Given the description of an element on the screen output the (x, y) to click on. 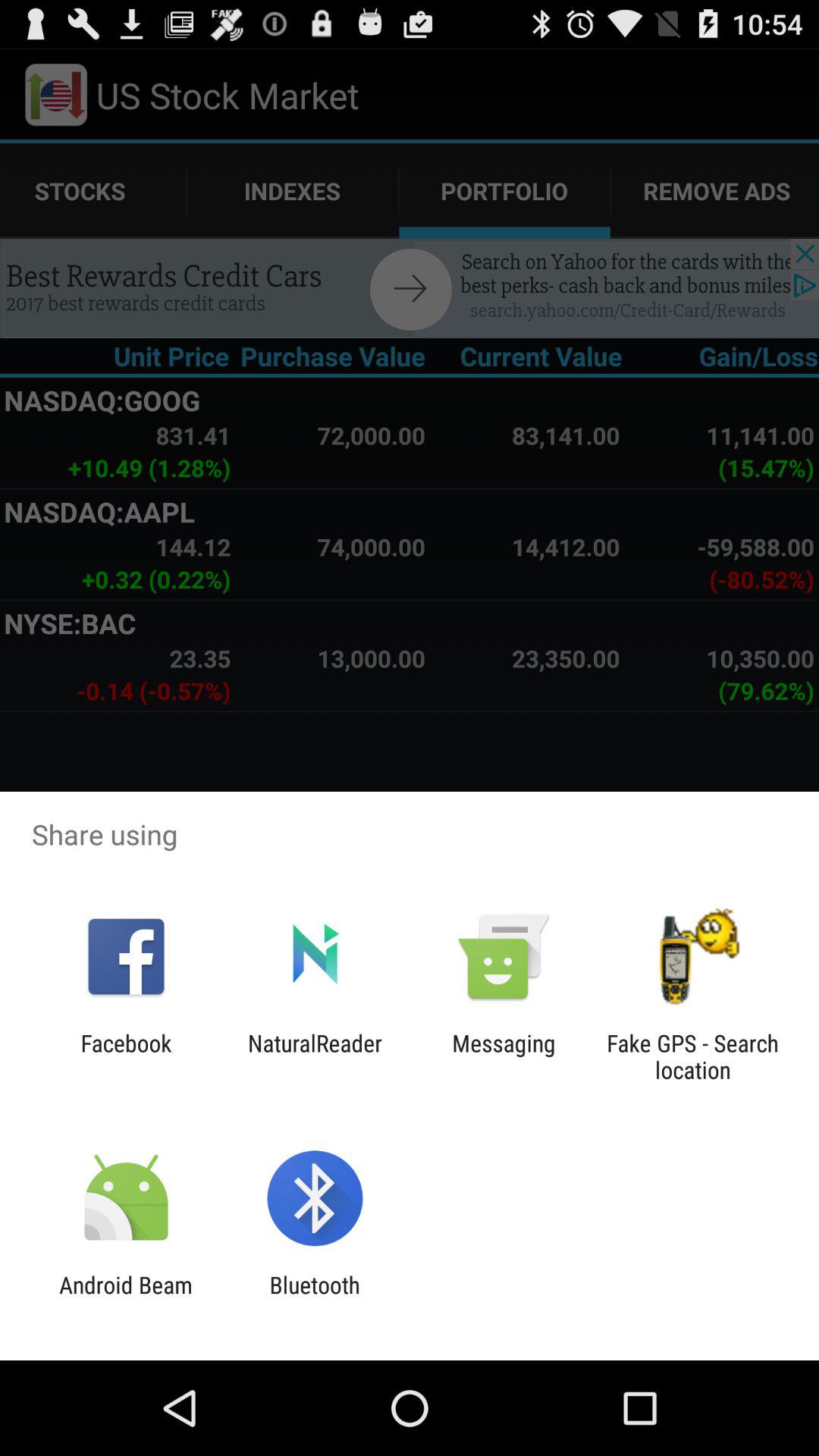
click the item next to the naturalreader item (503, 1056)
